Given the description of an element on the screen output the (x, y) to click on. 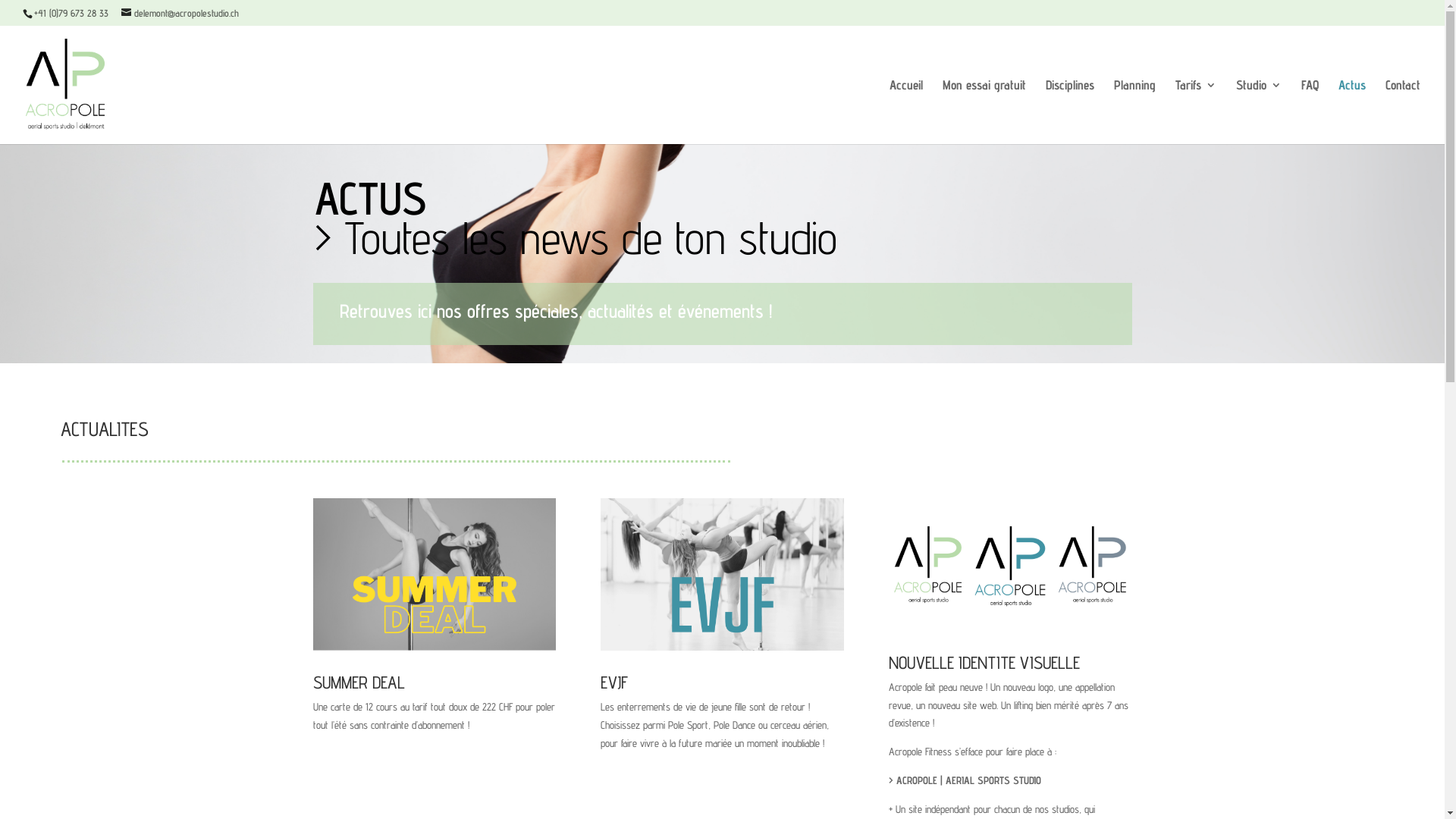
Studio Element type: text (1258, 110)
Actus Element type: text (1351, 110)
Contact Element type: text (1402, 110)
FAQ Element type: text (1309, 110)
Disciplines Element type: text (1069, 110)
delemont@acropolestudio.ch Element type: text (179, 12)
Tarifs Element type: text (1195, 110)
Mon essai gratuit Element type: text (984, 110)
Planning Element type: text (1134, 110)
Accueil Element type: text (905, 110)
